Given the description of an element on the screen output the (x, y) to click on. 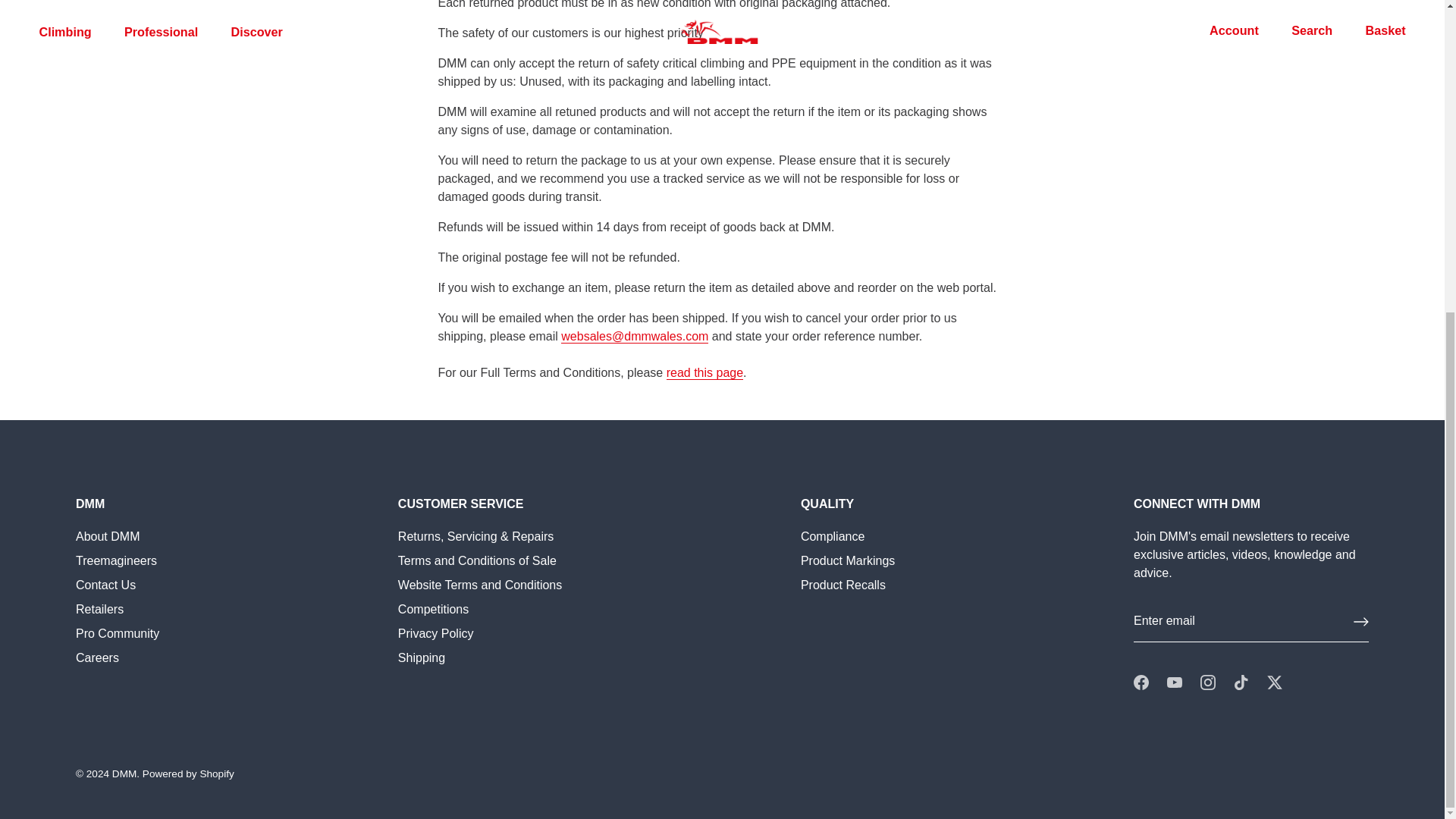
Instagram (1207, 682)
Youtube (1174, 682)
RIGHT ARROW LONG (1361, 621)
